Given the description of an element on the screen output the (x, y) to click on. 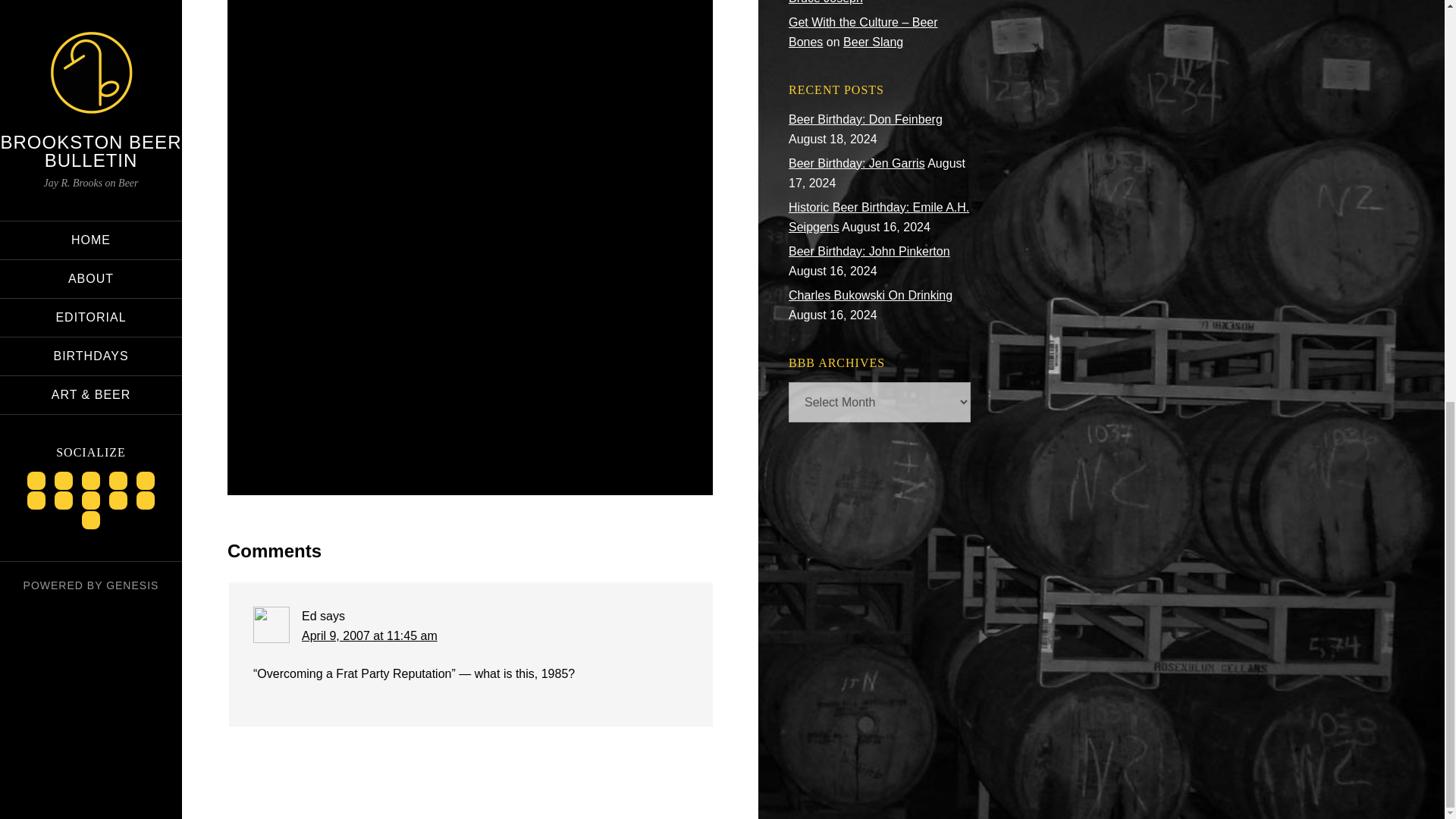
Beer Birthday: Don Feinberg (865, 119)
Advertisement (469, 320)
Beer Slang (872, 42)
April 9, 2007 at 11:45 am (369, 635)
Beer Birthday: Bruce Joseph (871, 2)
